Given the description of an element on the screen output the (x, y) to click on. 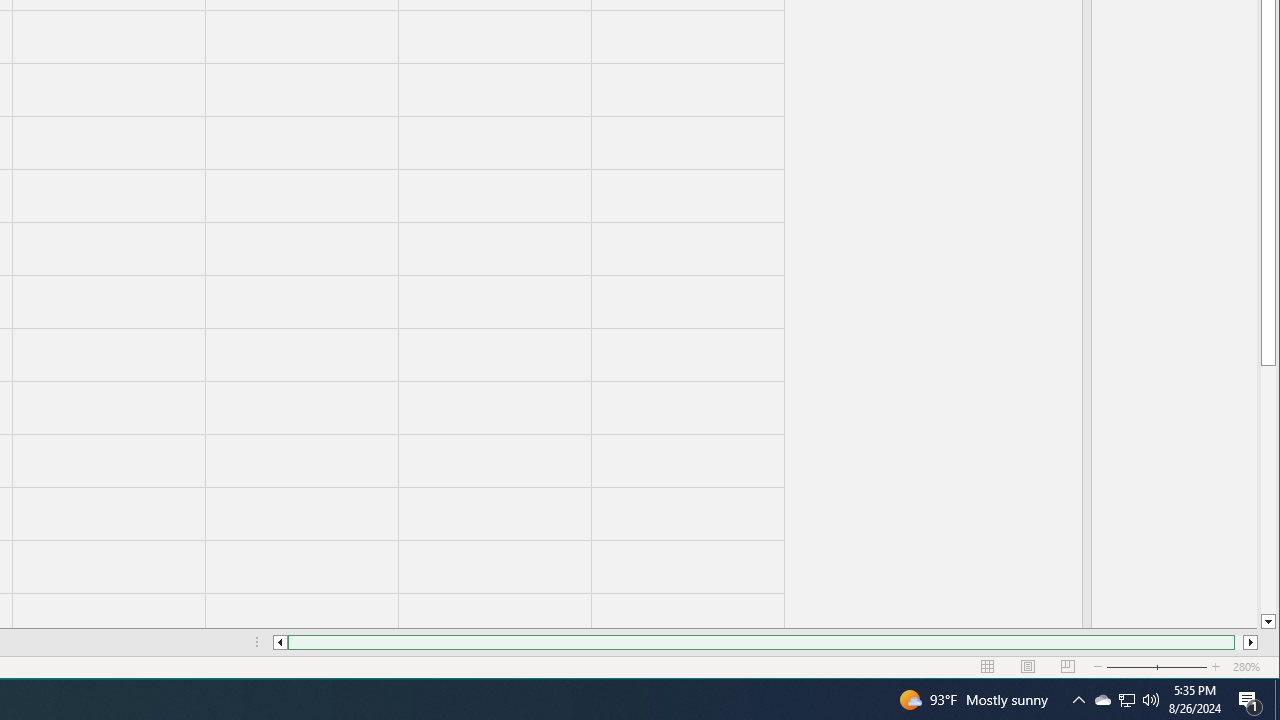
User Promoted Notification Area (1126, 699)
